Given the description of an element on the screen output the (x, y) to click on. 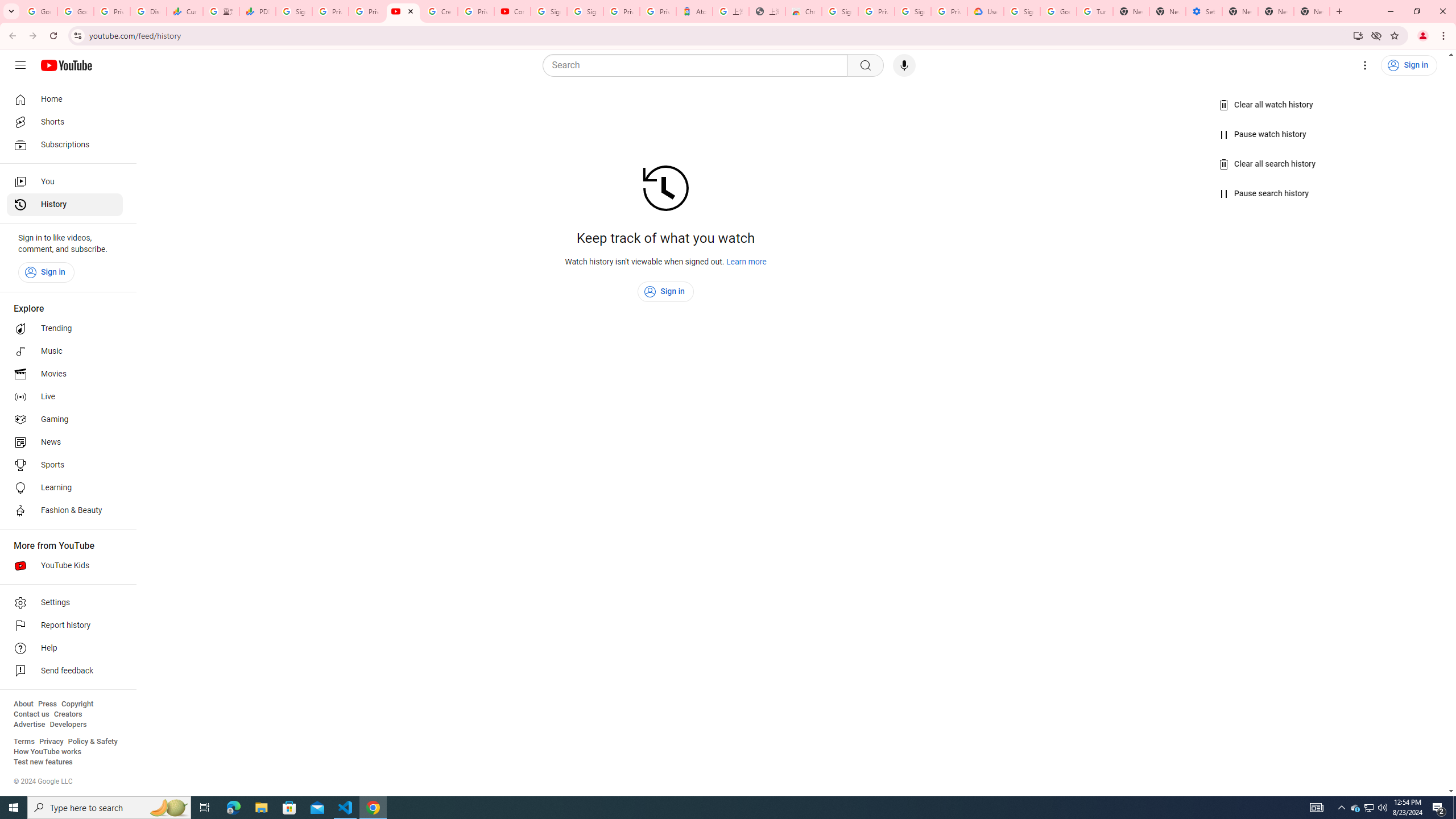
Trending (64, 328)
Sign in - Google Accounts (912, 11)
Home (64, 99)
New Tab (1311, 11)
Sign in - Google Accounts (293, 11)
Chrome Web Store - Color themes by Chrome (803, 11)
Help (64, 648)
About (23, 703)
Advertise (29, 724)
